Given the description of an element on the screen output the (x, y) to click on. 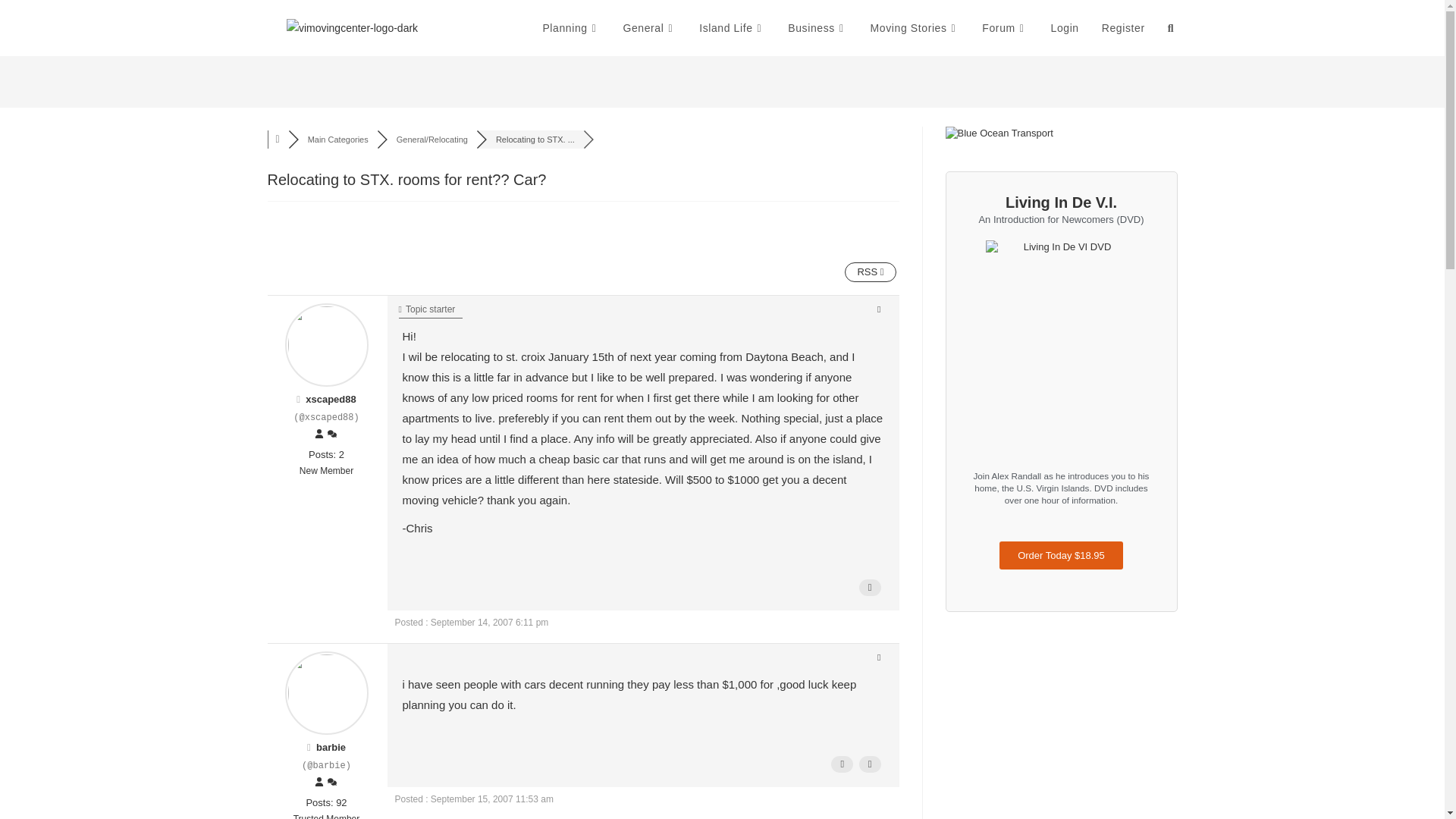
vimovingcenter-logo-dark (351, 27)
Topic RSS Feed (869, 271)
Business (817, 28)
Island Life (731, 28)
General (649, 28)
Rating Title (326, 471)
Forum (1005, 28)
Main Categories (337, 139)
xscaped88 (330, 398)
Planning (571, 28)
Moving Stories (915, 28)
barbie (330, 747)
